Given the description of an element on the screen output the (x, y) to click on. 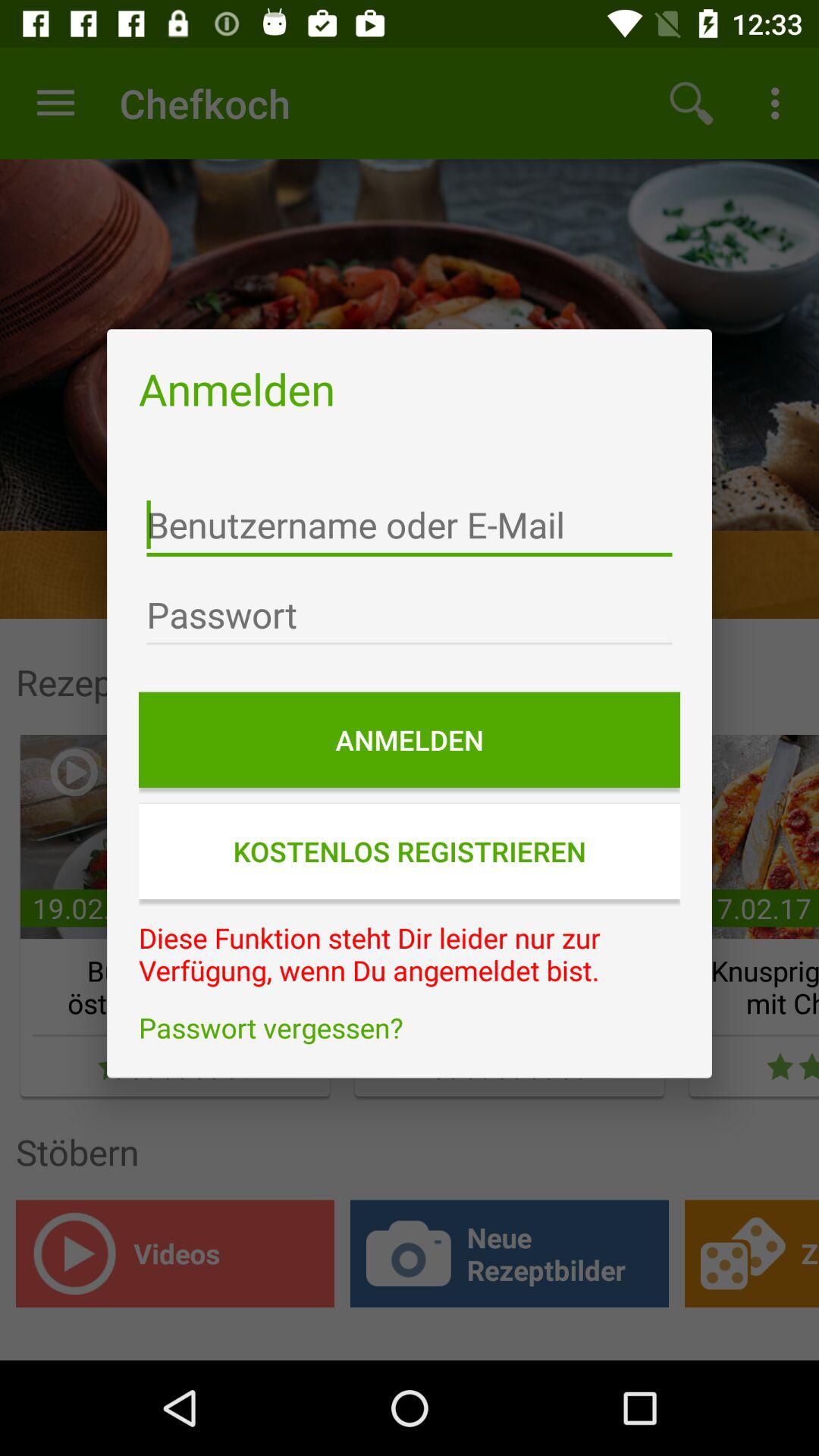
launch icon above the anmelden (409, 615)
